Given the description of an element on the screen output the (x, y) to click on. 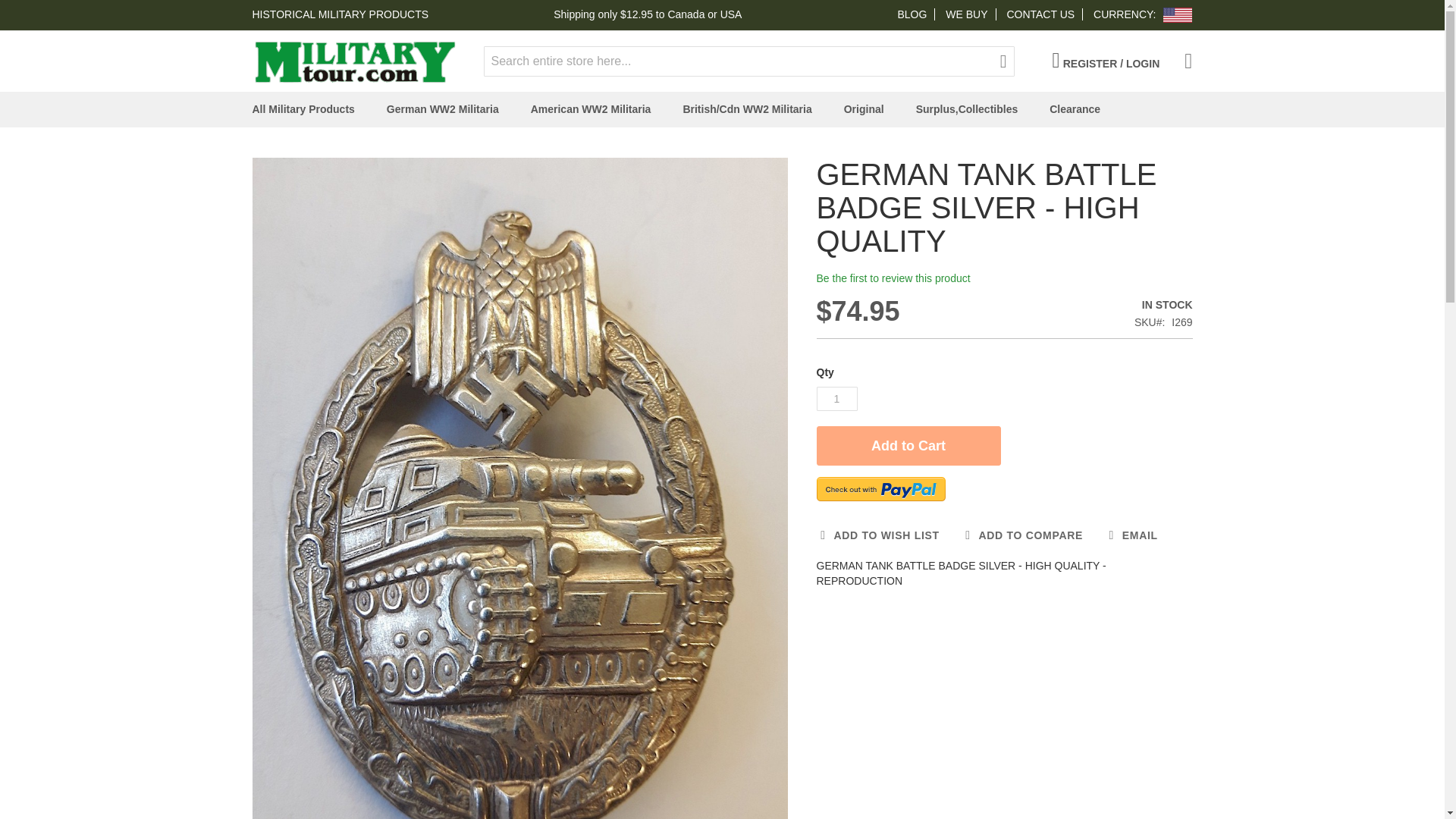
Militarytour (354, 61)
WE BUY (965, 14)
Availability (1163, 305)
1 (836, 398)
Qty (836, 398)
Add to Cart (907, 445)
BLOG (911, 14)
Checkout with PayPal (879, 488)
CONTACT US (1040, 14)
All Military Products (306, 109)
